Given the description of an element on the screen output the (x, y) to click on. 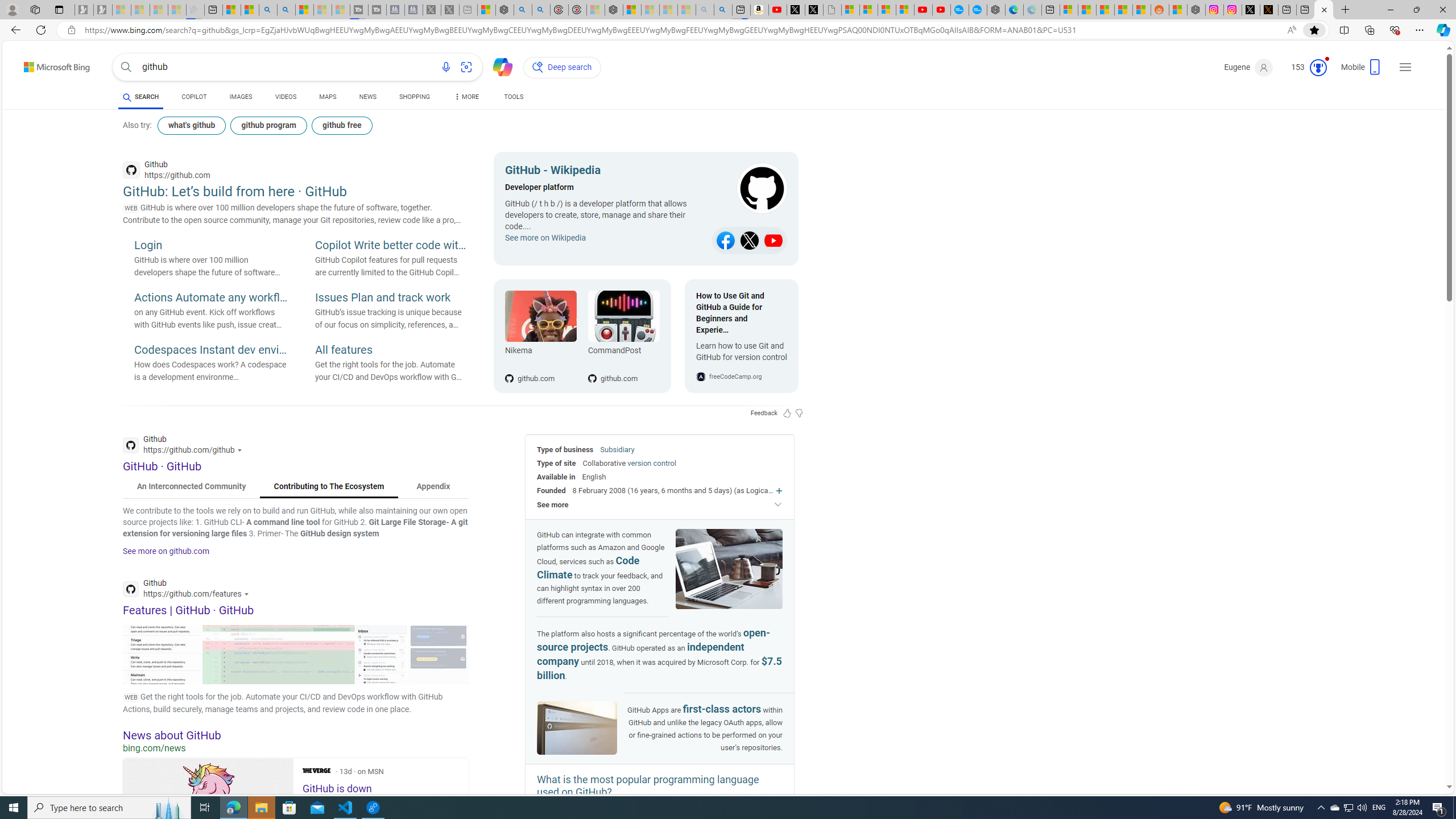
Nikema (540, 315)
COPILOT (193, 96)
Nikema (540, 352)
SEARCH (140, 96)
Actions Automate any workflow (210, 298)
Mobile (1361, 70)
MAPS (327, 98)
